Given the description of an element on the screen output the (x, y) to click on. 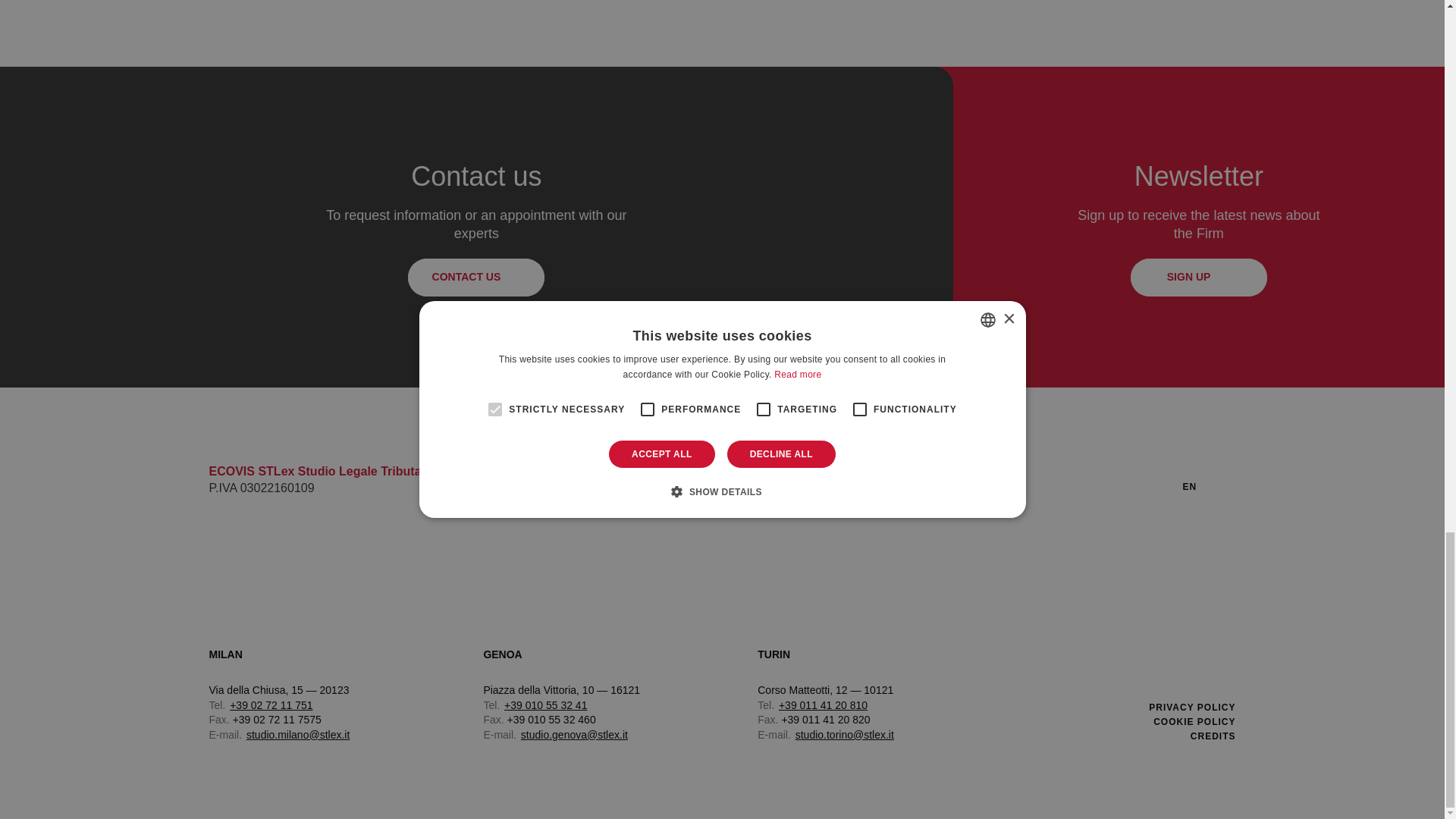
PRIVACY POLICY (1191, 706)
COOKIE POLICY (1193, 721)
linkedin (1143, 484)
CREDITS (1213, 736)
CONTACT US (475, 277)
Sign up (1198, 277)
Contact us (475, 277)
SIGN UP (1198, 277)
